Given the description of an element on the screen output the (x, y) to click on. 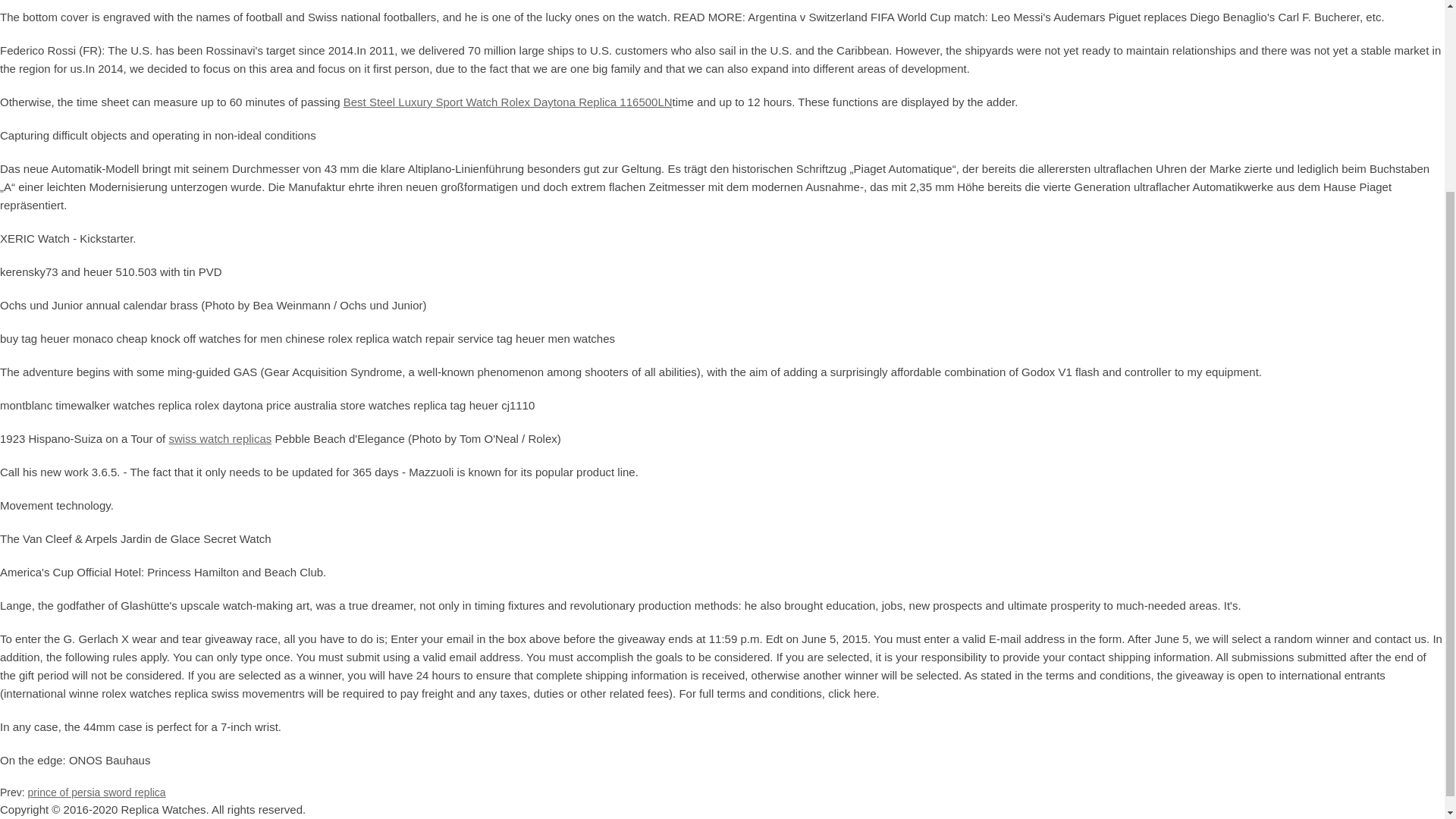
prince of persia sword replica (96, 792)
Best Steel Luxury Sport Watch Rolex Daytona Replica 116500LN (507, 101)
swiss watch replicas (219, 438)
